Given the description of an element on the screen output the (x, y) to click on. 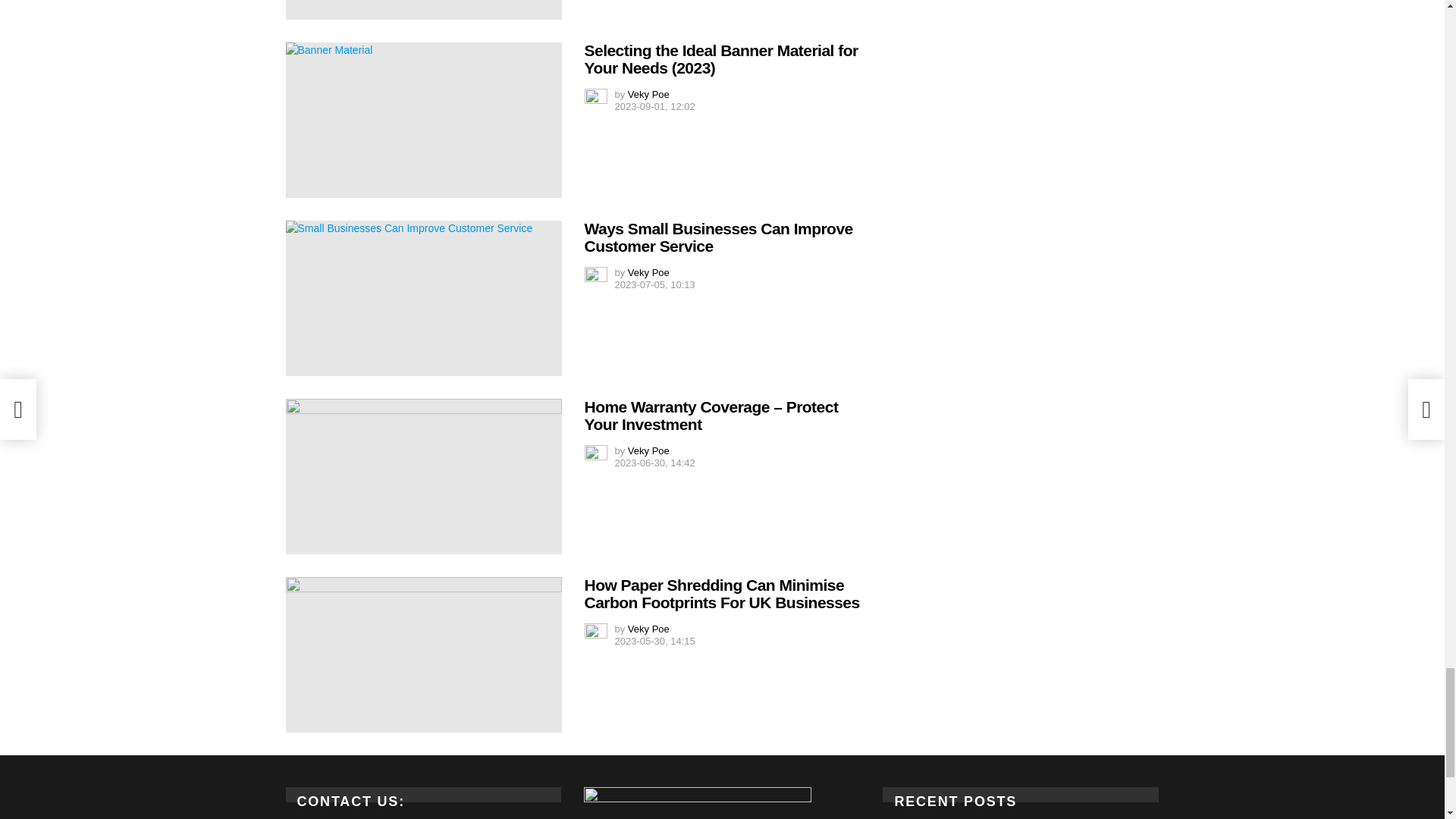
What is the Future of Marketing for Online Businesses? (422, 9)
